Given the description of an element on the screen output the (x, y) to click on. 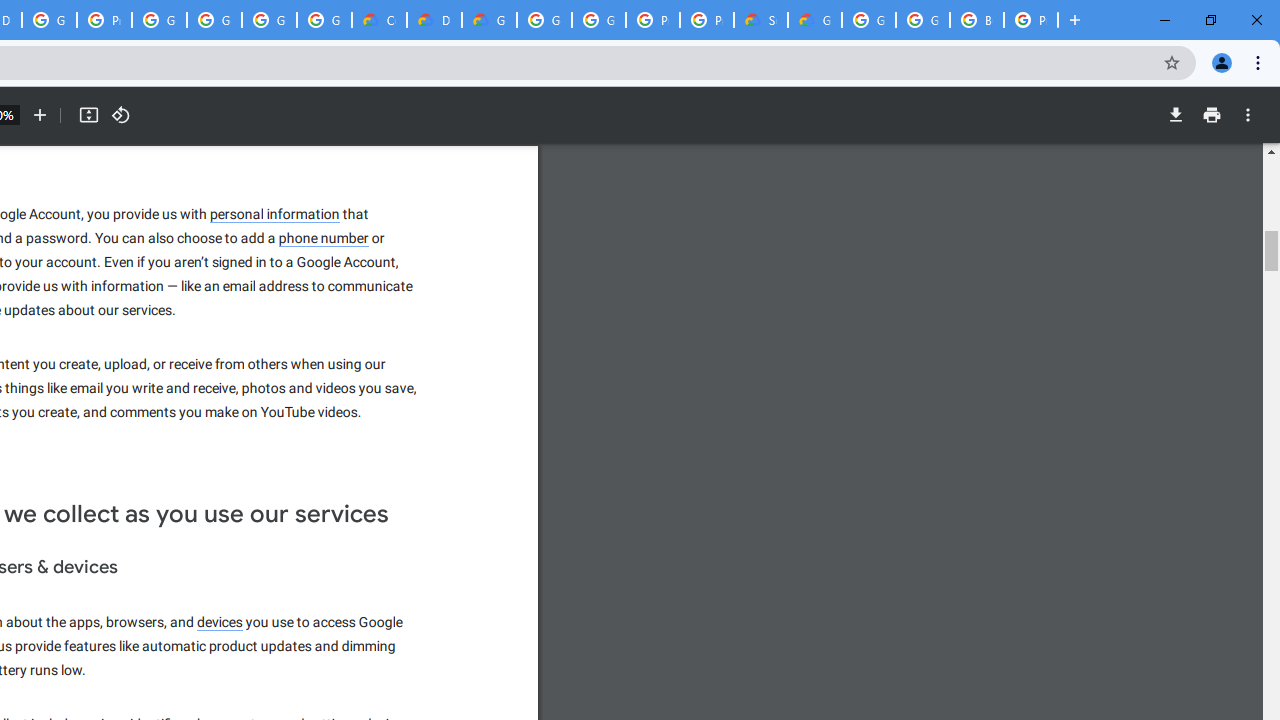
Customer Care | Google Cloud (379, 20)
Google Cloud Platform (598, 20)
Google Workspace - Specific Terms (268, 20)
devices (220, 623)
Support Hub | Google Cloud (760, 20)
Zoom in (39, 115)
